Given the description of an element on the screen output the (x, y) to click on. 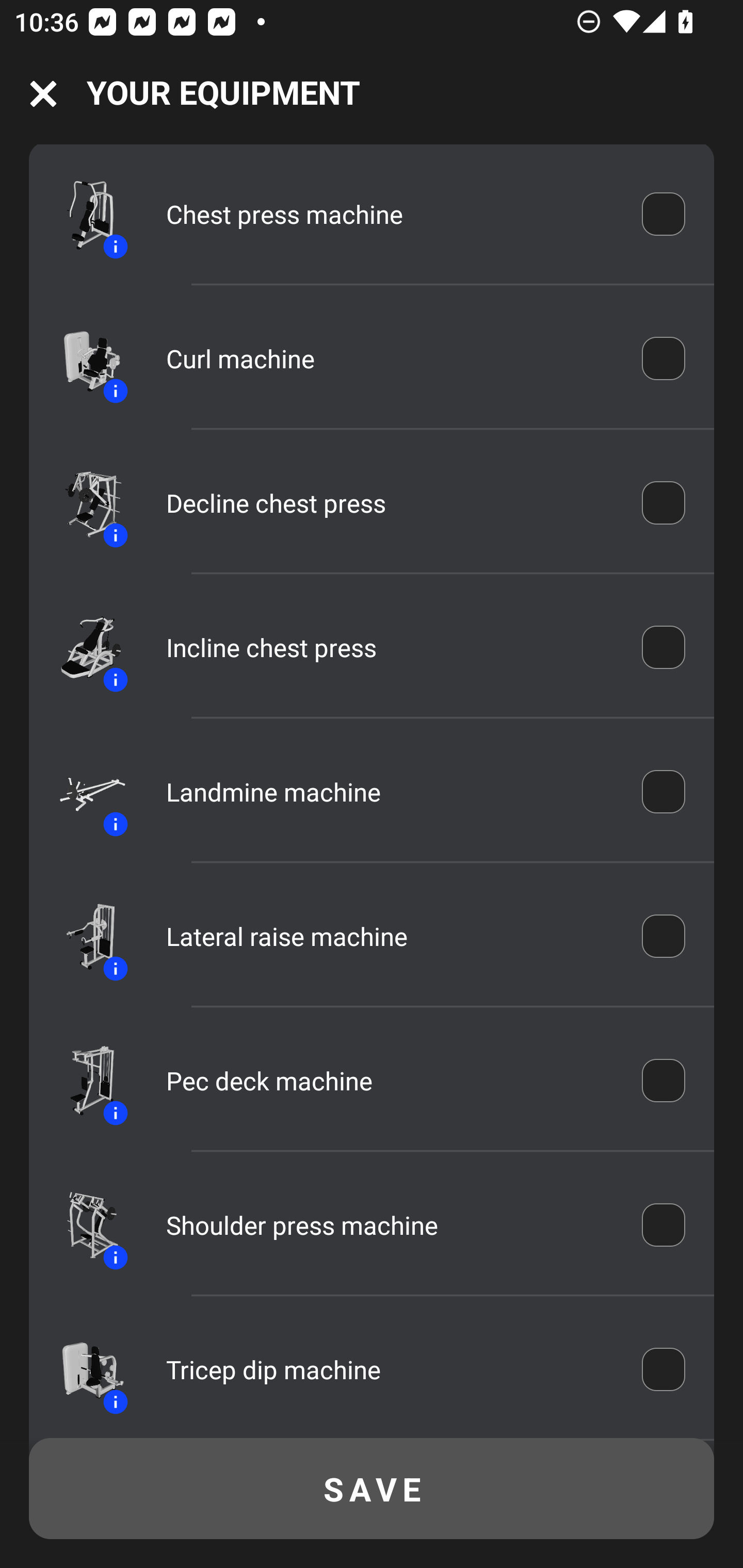
Navigation icon (43, 93)
Equipment icon Information icon (82, 213)
Chest press machine (389, 213)
Equipment icon Information icon (82, 358)
Curl machine (389, 358)
Equipment icon Information icon (82, 502)
Decline chest press (389, 502)
Equipment icon Information icon (82, 646)
Incline chest press (389, 646)
Equipment icon Information icon (82, 790)
Landmine machine (389, 791)
Equipment icon Information icon (82, 935)
Lateral raise machine (389, 936)
Equipment icon Information icon (82, 1081)
Pec deck machine (389, 1081)
Equipment icon Information icon (82, 1225)
Shoulder press machine (389, 1225)
Equipment icon Information icon (82, 1369)
Tricep dip machine (389, 1369)
SAVE (371, 1488)
